Given the description of an element on the screen output the (x, y) to click on. 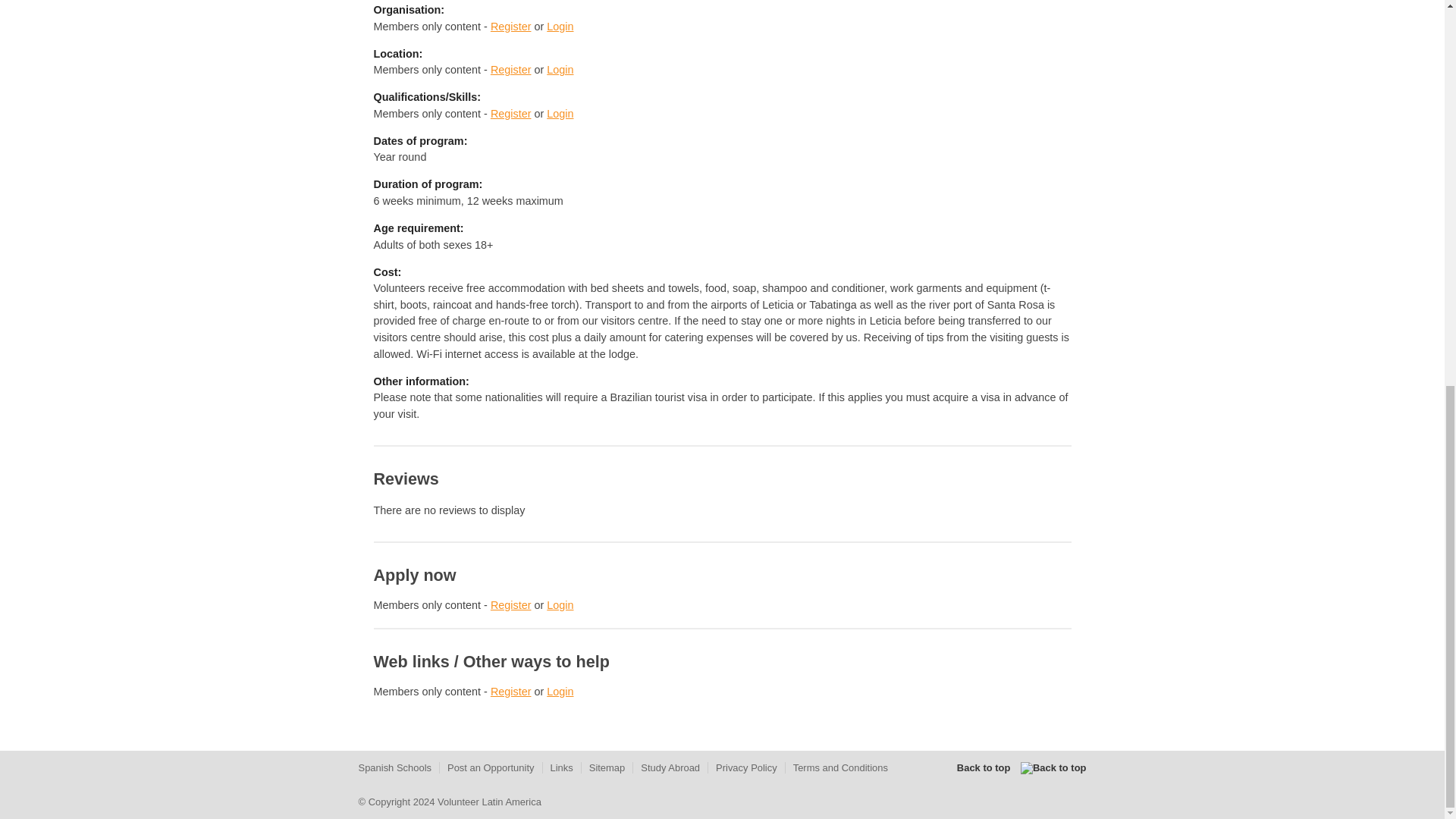
Register (510, 691)
Register (510, 26)
Spanish Schools (394, 767)
Submit Your Spanish Language School (394, 767)
Post an Opportunity (490, 767)
Register (510, 604)
Back to top (1021, 767)
Sitemap (607, 767)
Login (560, 604)
Back to top (1021, 767)
